Given the description of an element on the screen output the (x, y) to click on. 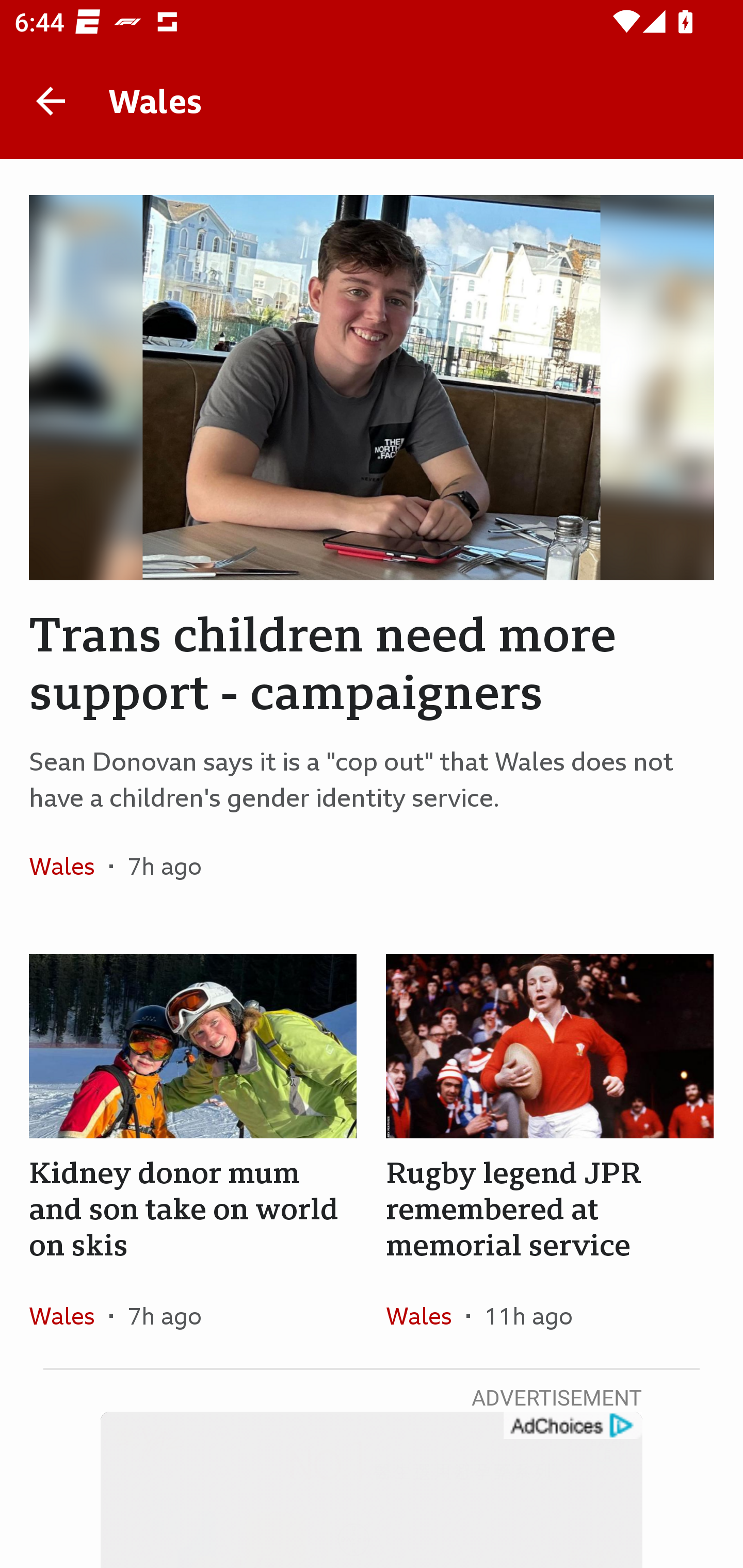
Back (50, 101)
Wales In the section Wales (68, 865)
Wales In the section Wales (68, 1315)
Wales In the section Wales (425, 1315)
Video Player get?name=admarker-full-tl   (371, 1489)
get?name=admarker-full-tl (571, 1425)
